Given the description of an element on the screen output the (x, y) to click on. 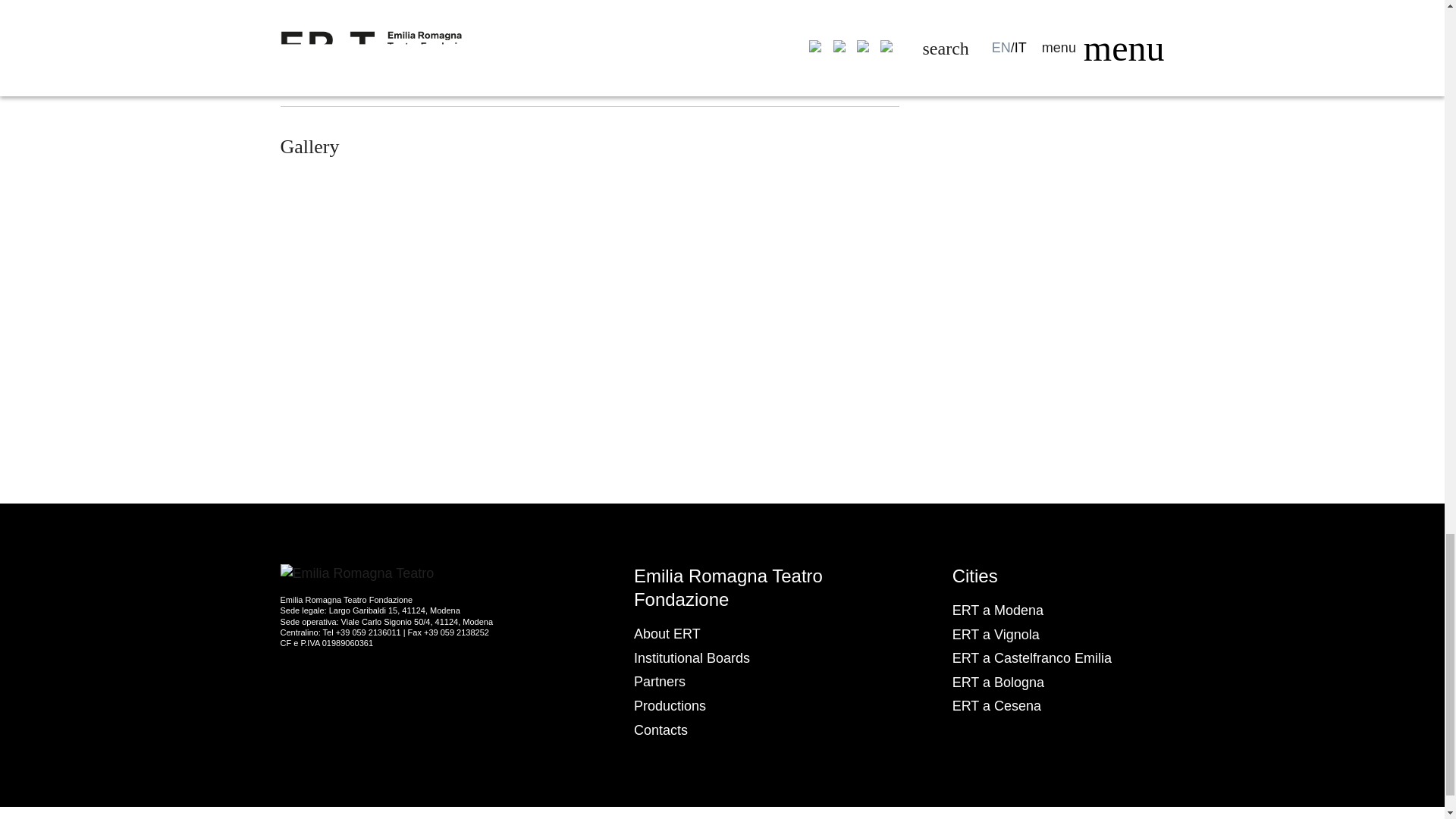
Get Your Shit Together Gallery Image (799, 236)
ERT a Castelfranco Emilia (1032, 657)
ERT a Modena (997, 610)
Productions (669, 705)
Get Your Shit Together Gallery Image (589, 236)
ERT a Vignola (995, 634)
Get Your Shit Together Gallery Image (380, 236)
ERT a Bologna (997, 682)
About ERT (666, 633)
Get Your Shit Together Gallery Image (589, 384)
